Given the description of an element on the screen output the (x, y) to click on. 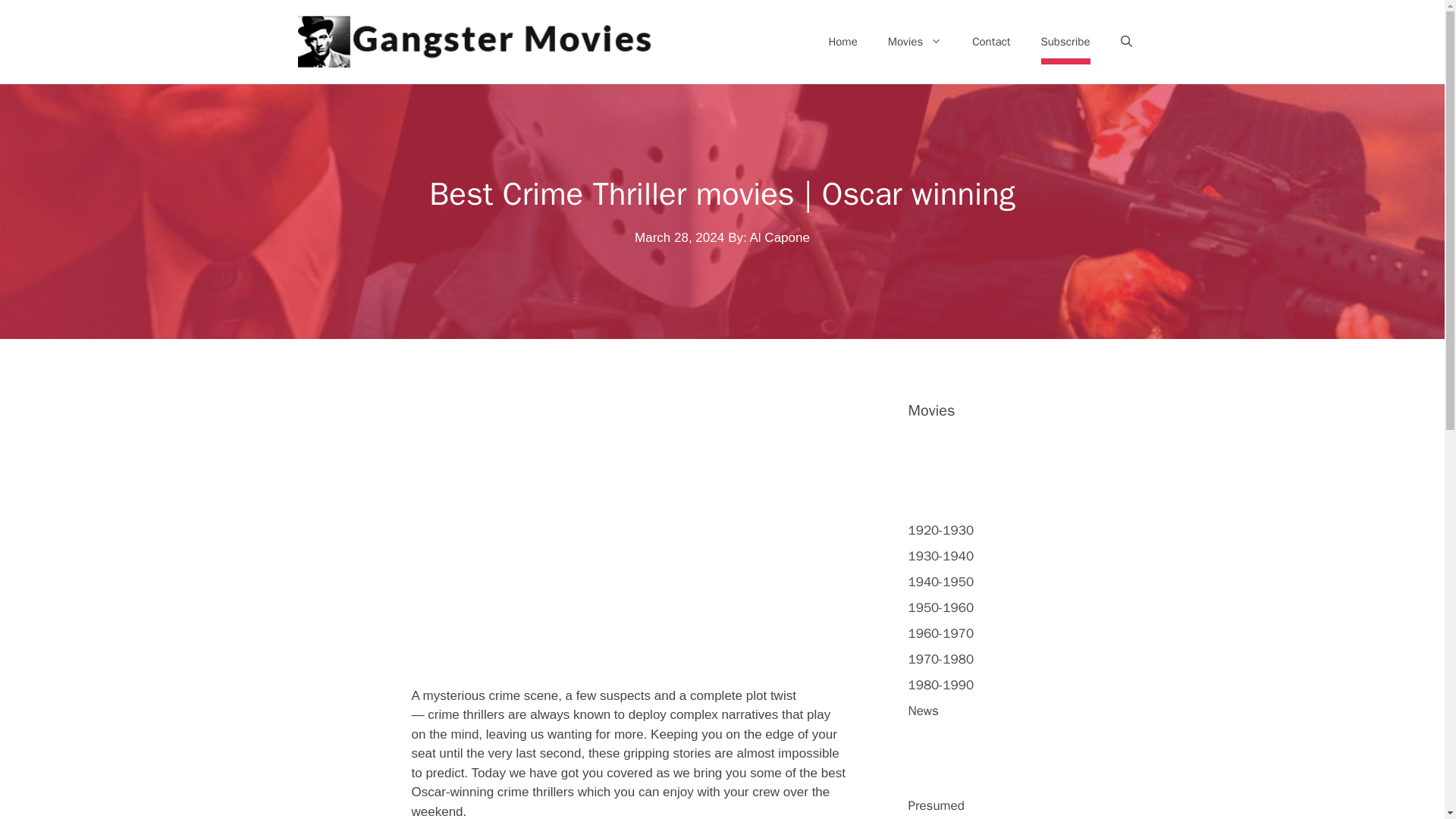
Contact (990, 41)
Subscribe (1065, 41)
Home (842, 41)
Movies (914, 41)
1930-1940 (941, 555)
1940-1950 (941, 581)
1920-1930 (941, 530)
1960-1970 (941, 633)
1950-1960 (941, 607)
